Given the description of an element on the screen output the (x, y) to click on. 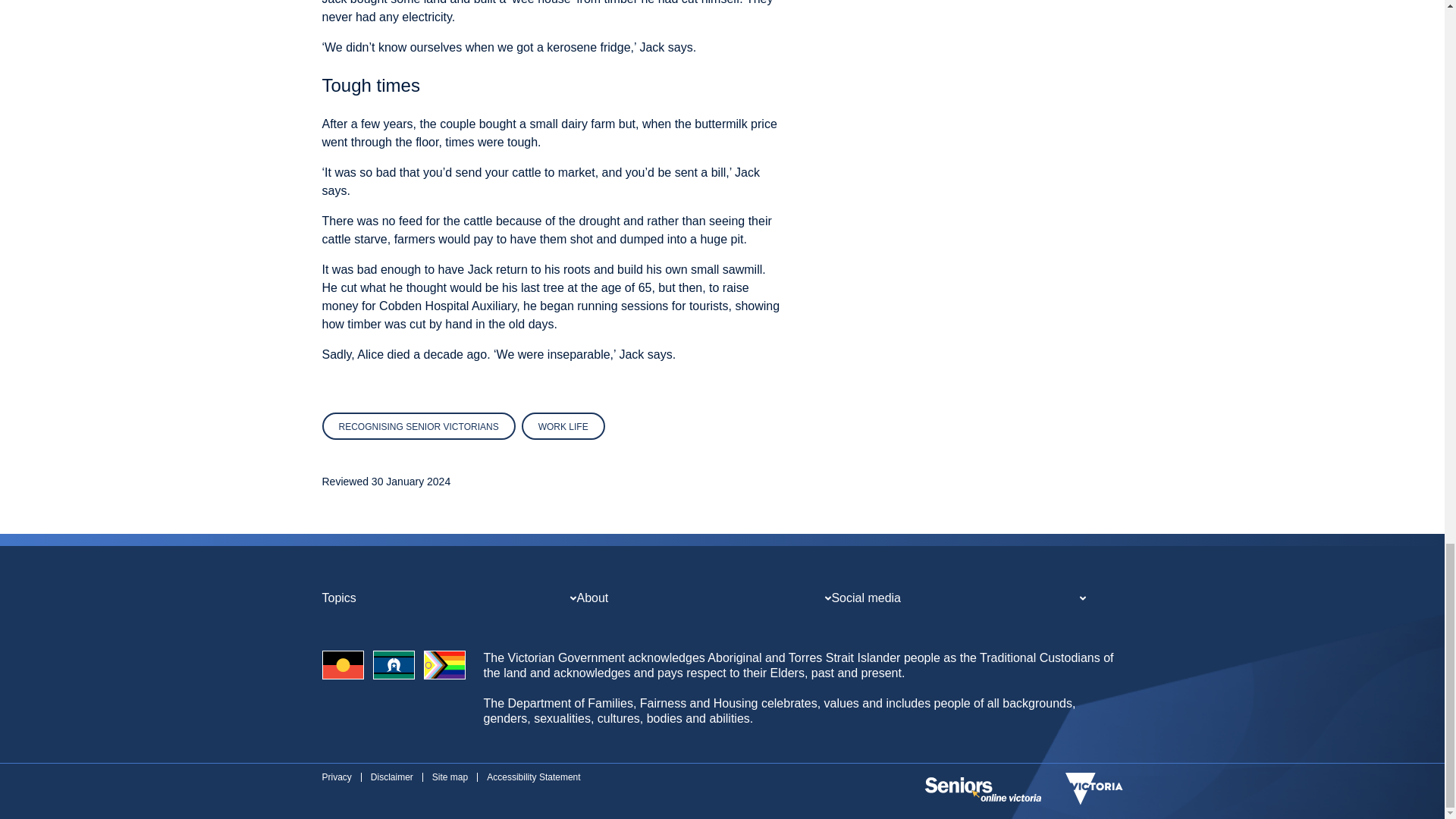
Accessibility Statement (532, 777)
Disclaimer (392, 777)
Site map (449, 777)
About (592, 597)
Topics (338, 597)
Privacy (335, 777)
Social media (866, 597)
RECOGNISING SENIOR VICTORIANS (418, 425)
WORK LIFE (563, 425)
